Given the description of an element on the screen output the (x, y) to click on. 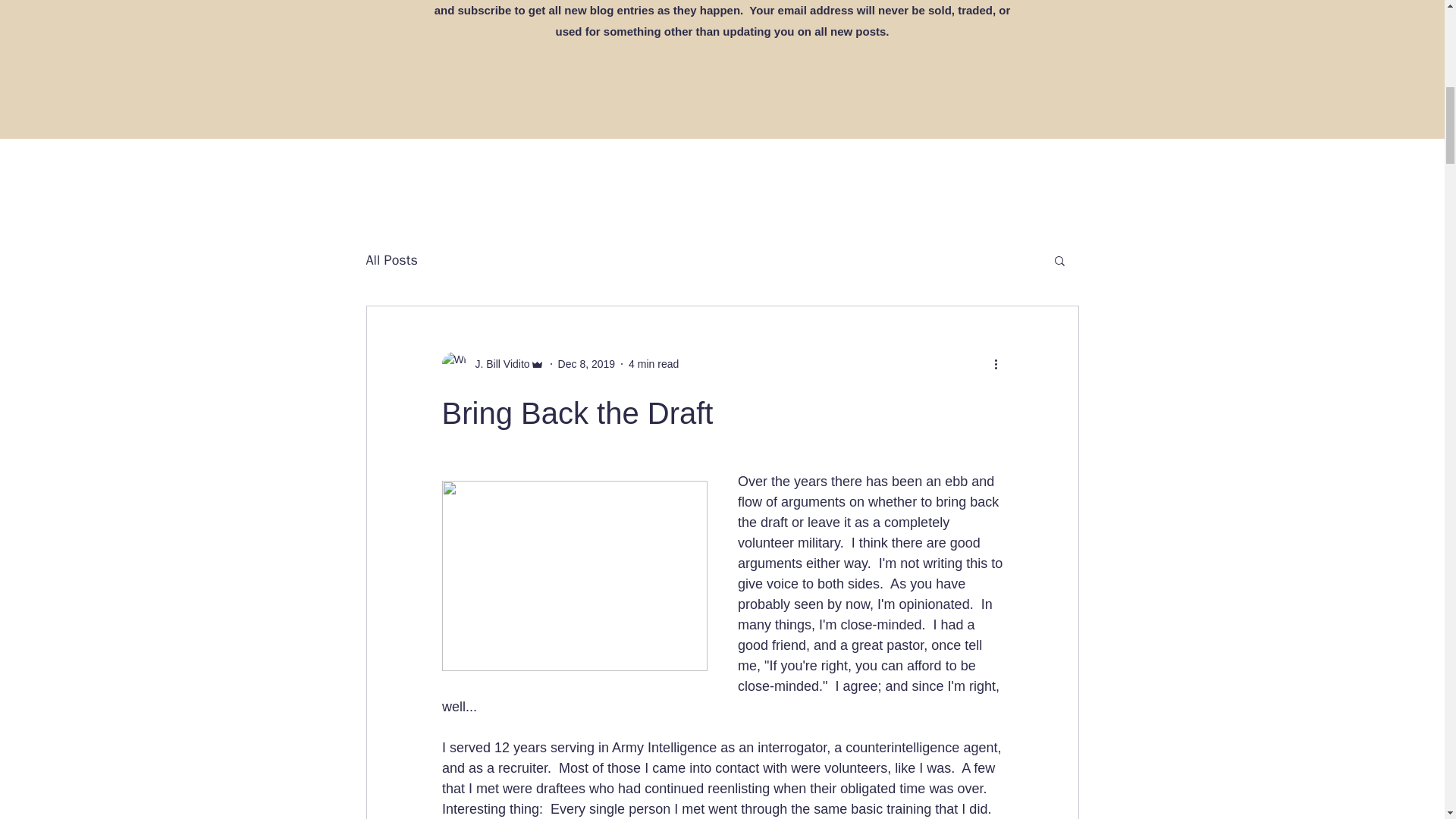
Dec 8, 2019 (586, 363)
All Posts (390, 259)
4 min read (653, 363)
J. Bill Vidito (497, 364)
J. Bill Vidito (492, 363)
